Given the description of an element on the screen output the (x, y) to click on. 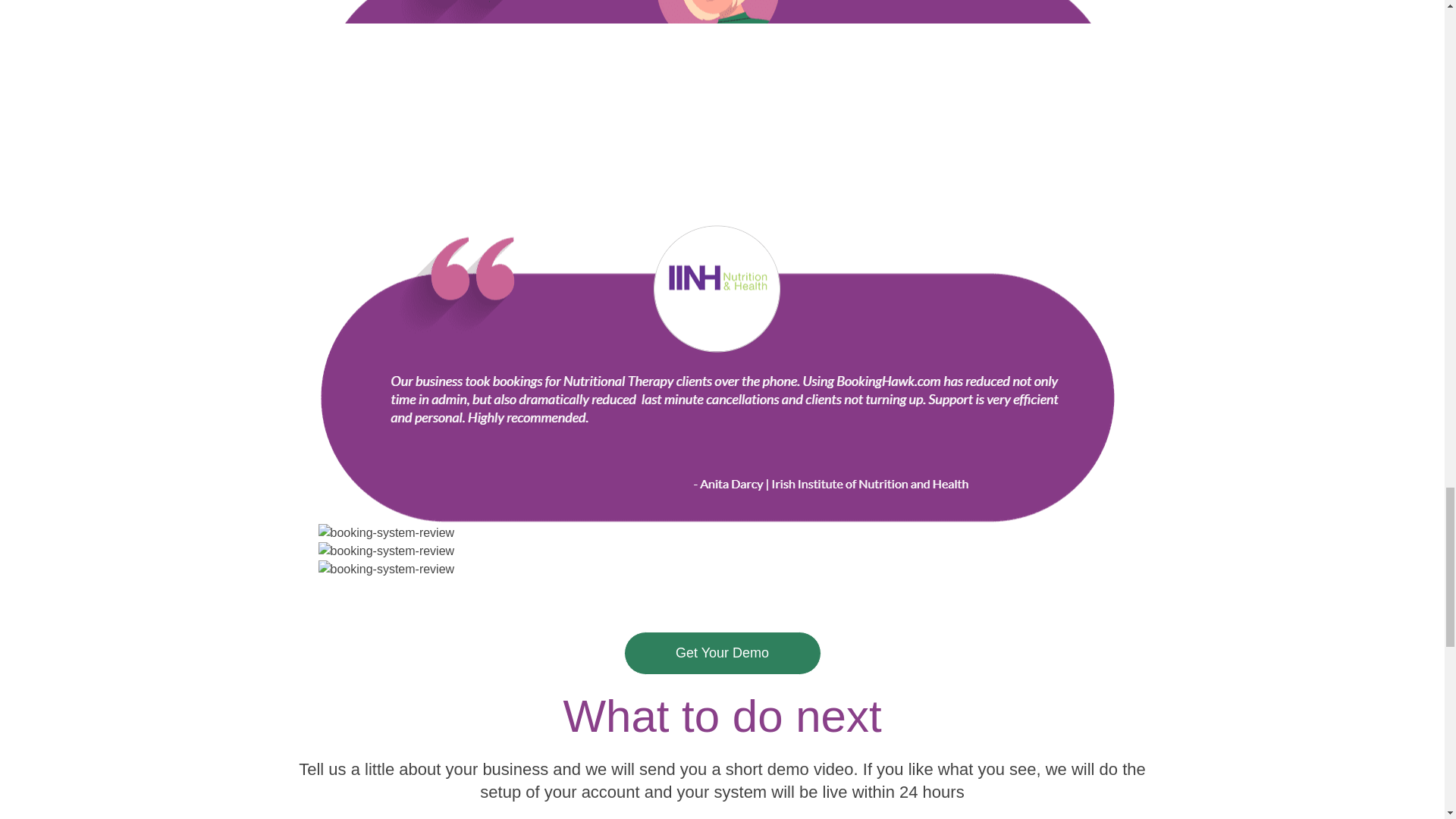
Get Your Demo (722, 652)
